Given the description of an element on the screen output the (x, y) to click on. 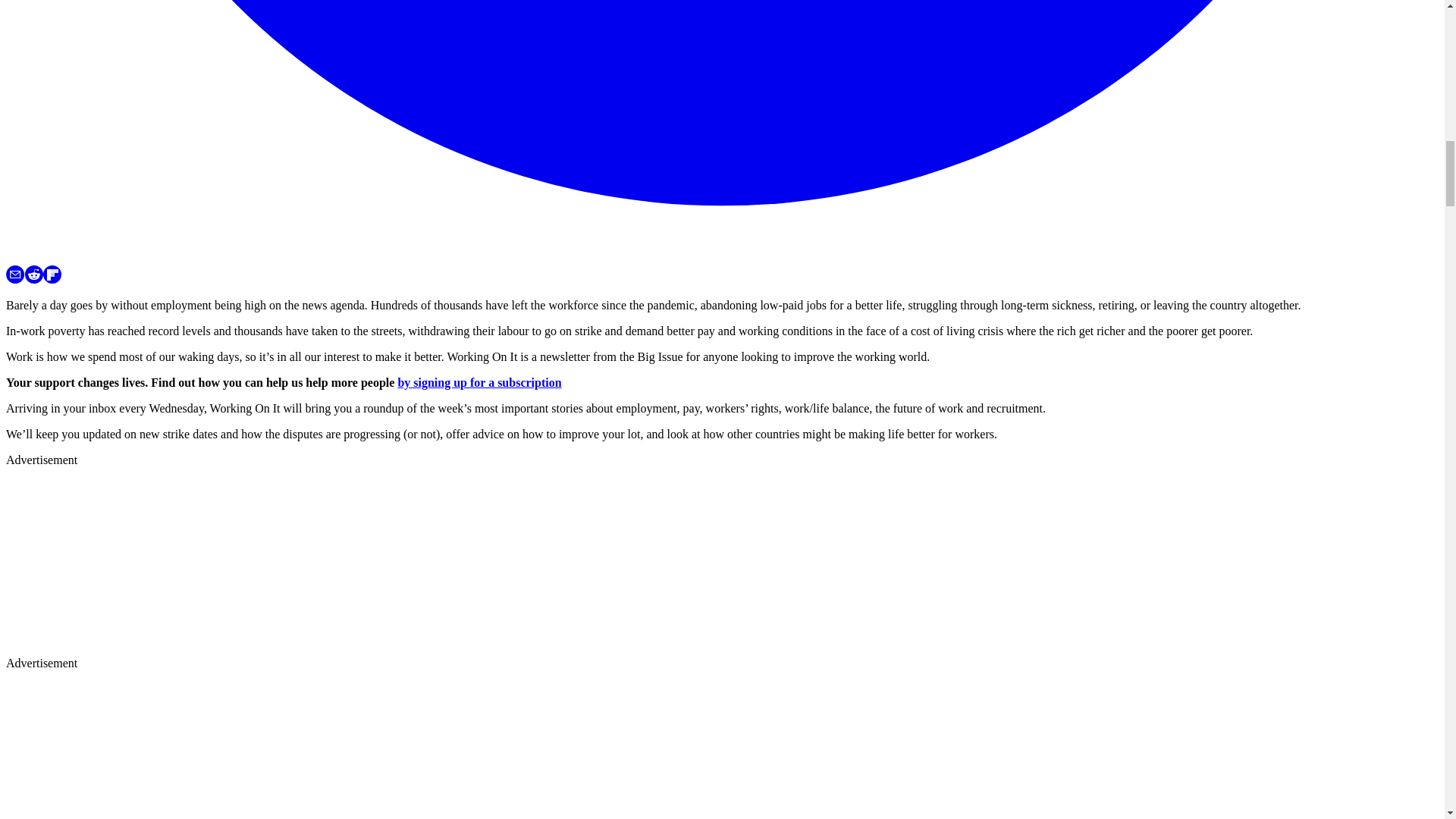
by signing up for a subscription (478, 382)
